Given the description of an element on the screen output the (x, y) to click on. 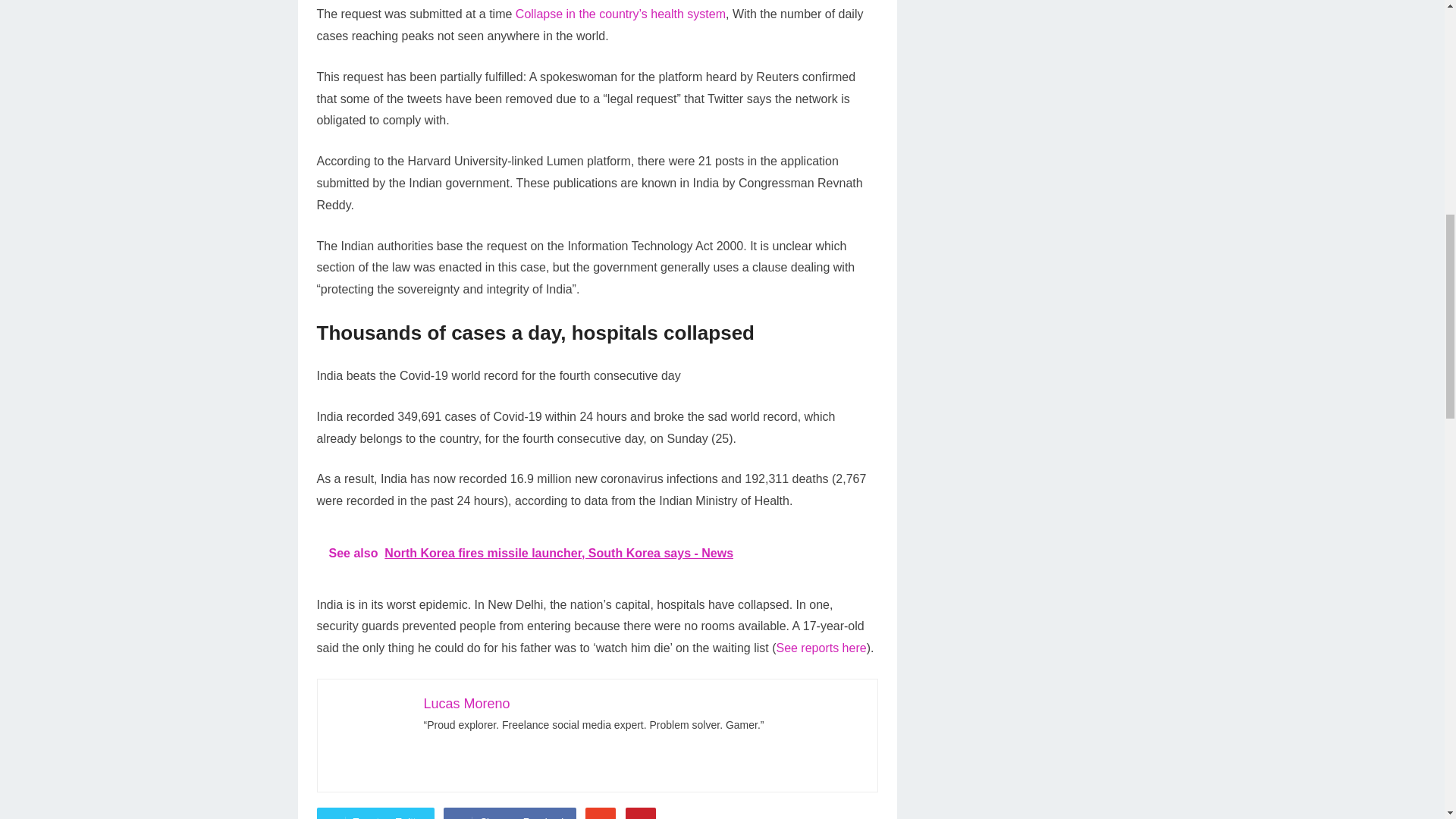
Pinterest (641, 813)
Lucas Moreno (466, 703)
See reports here (821, 647)
Share on Facebook (509, 813)
Tweet on Twitter (375, 813)
